Given the description of an element on the screen output the (x, y) to click on. 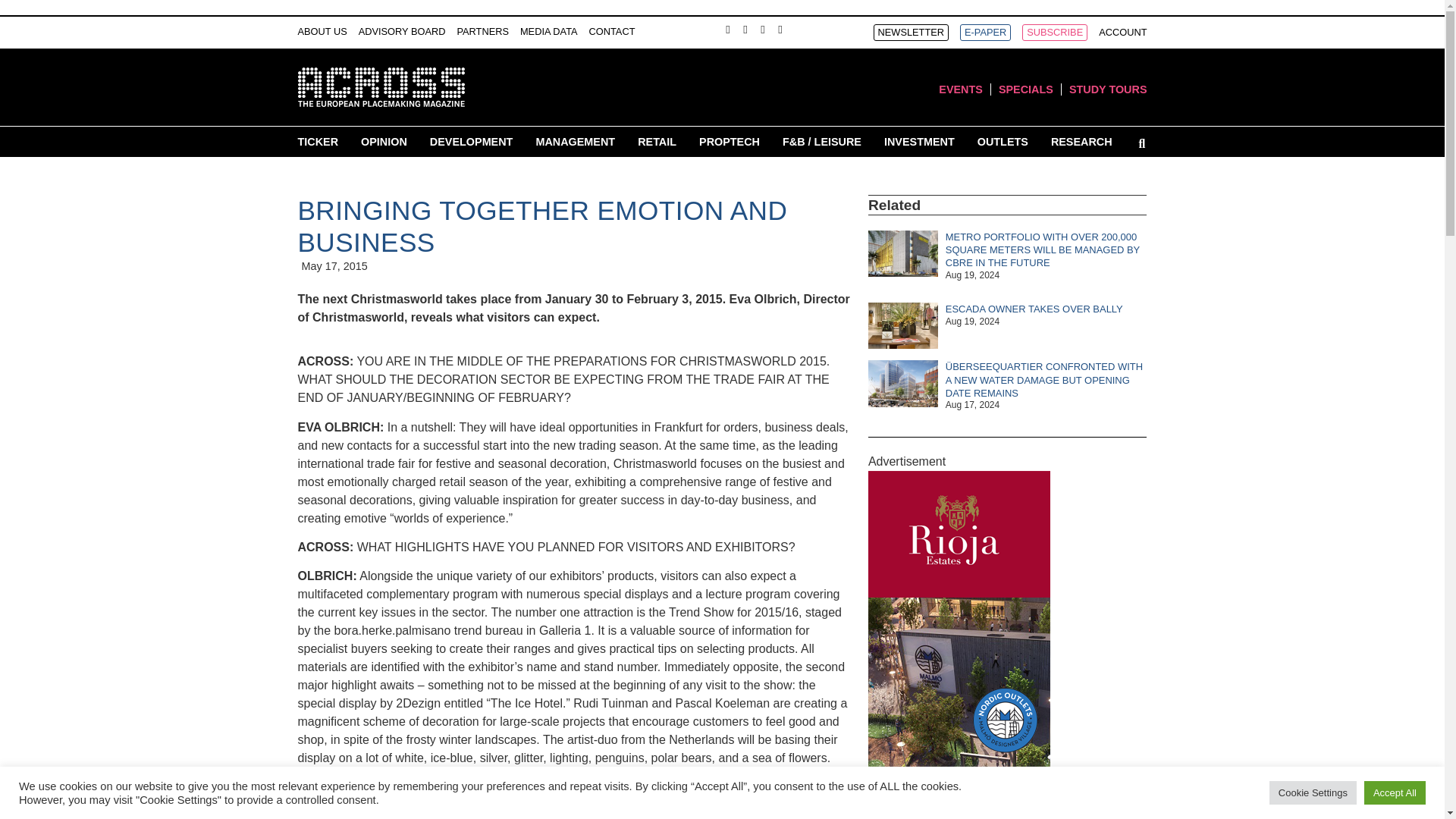
RESEARCH (1081, 141)
TICKER (317, 141)
ADVISORY BOARD (401, 31)
DEVELOPMENT (471, 141)
CONTACT (611, 31)
PROPTECH (729, 141)
STUDY TOURS (1107, 89)
SPECIALS (1025, 89)
PARTNERS (482, 31)
OPINION (384, 141)
